Given the description of an element on the screen output the (x, y) to click on. 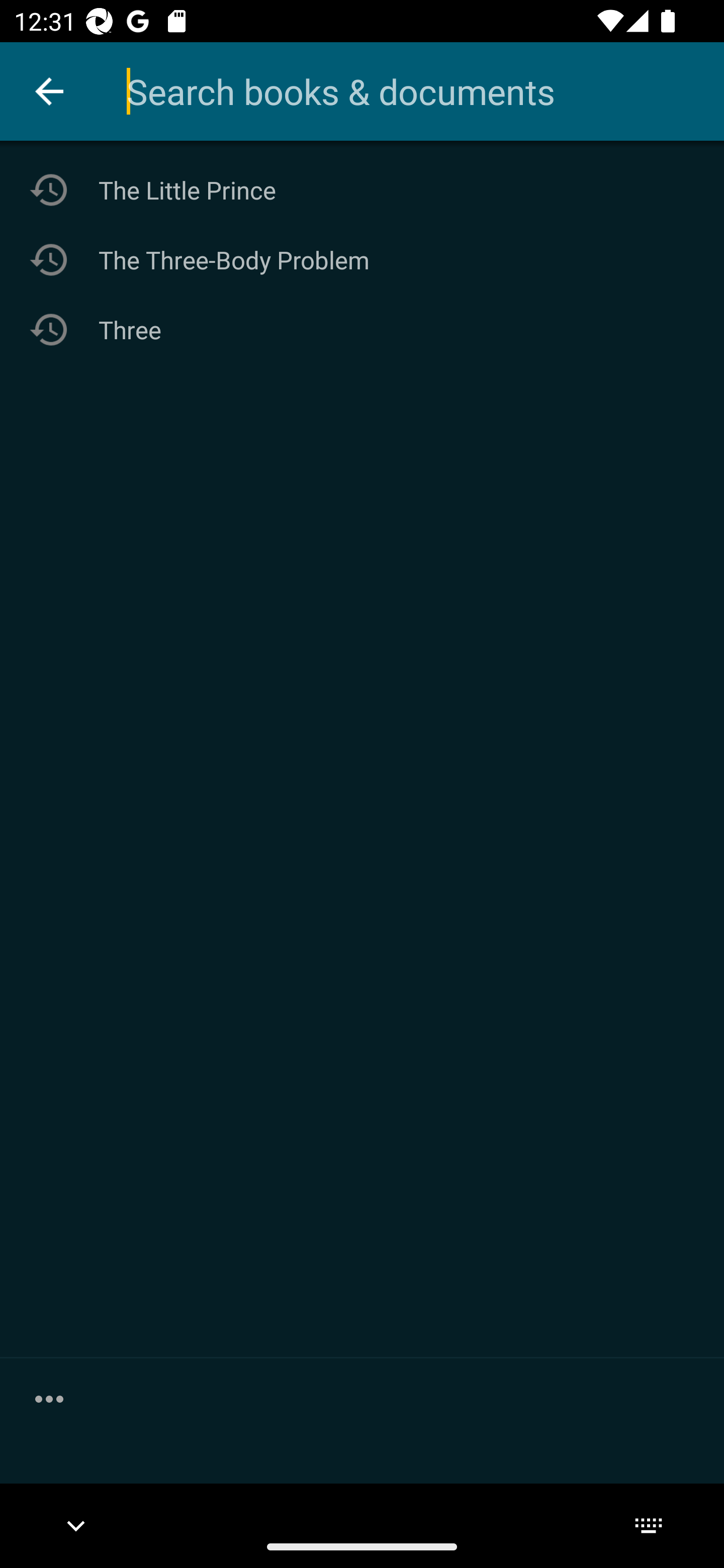
Back (49, 91)
Search books & documents (425, 91)
The Little Prince (362, 190)
The Three-Body Problem (362, 259)
Three (362, 329)
Clear history (49, 1398)
